Given the description of an element on the screen output the (x, y) to click on. 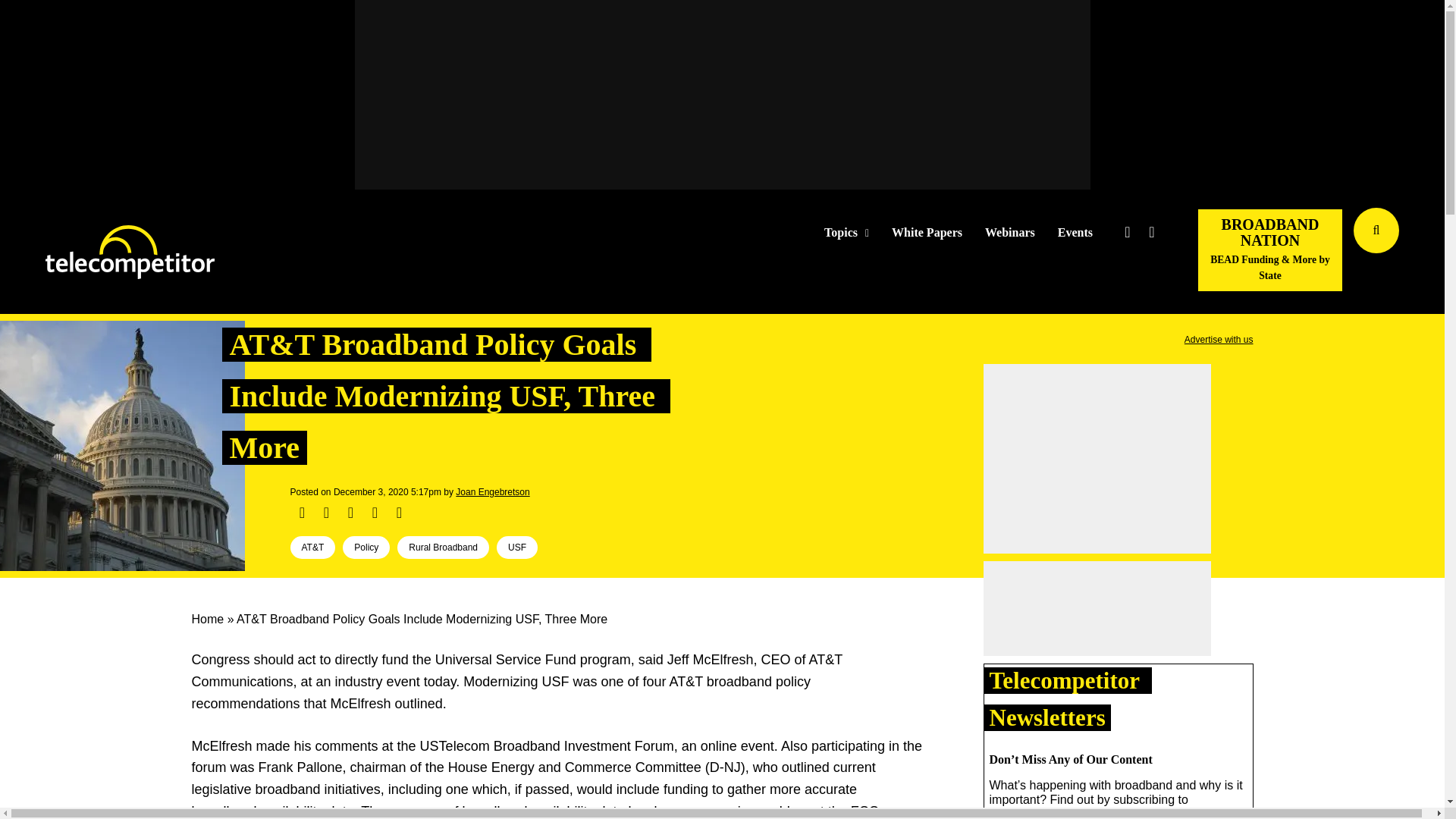
Follow Us on Twitter (1127, 232)
Follow Us on LinkedIN (1151, 232)
Spread the word on Twitter (325, 512)
Search telecompetitor.com (1376, 230)
White Papers (927, 232)
Search (1430, 253)
Events (1074, 232)
Share on Linked In (349, 512)
Share on Facebook (301, 512)
Topics (846, 232)
